Given the description of an element on the screen output the (x, y) to click on. 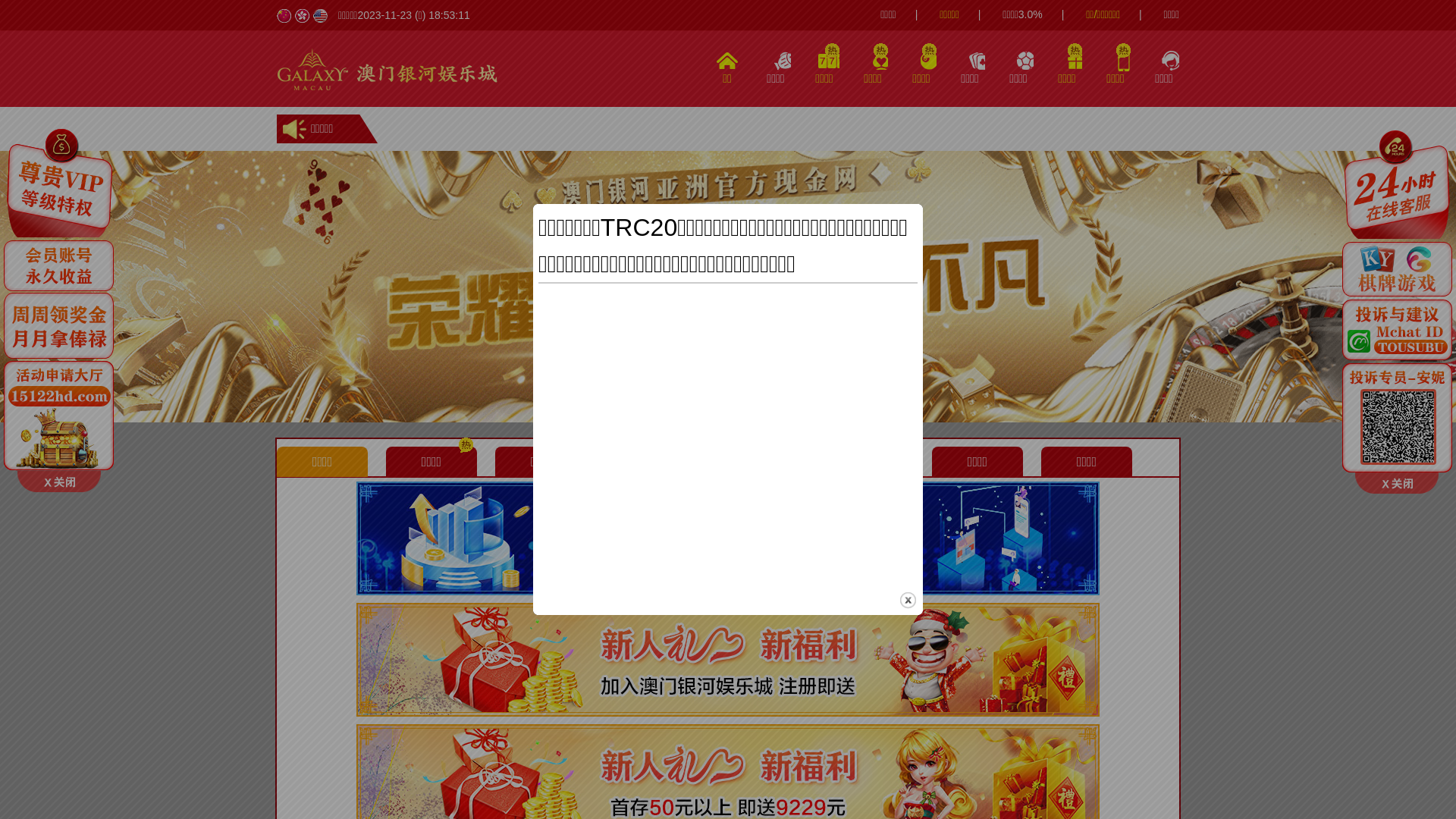
close Element type: text (907, 599)
